Given the description of an element on the screen output the (x, y) to click on. 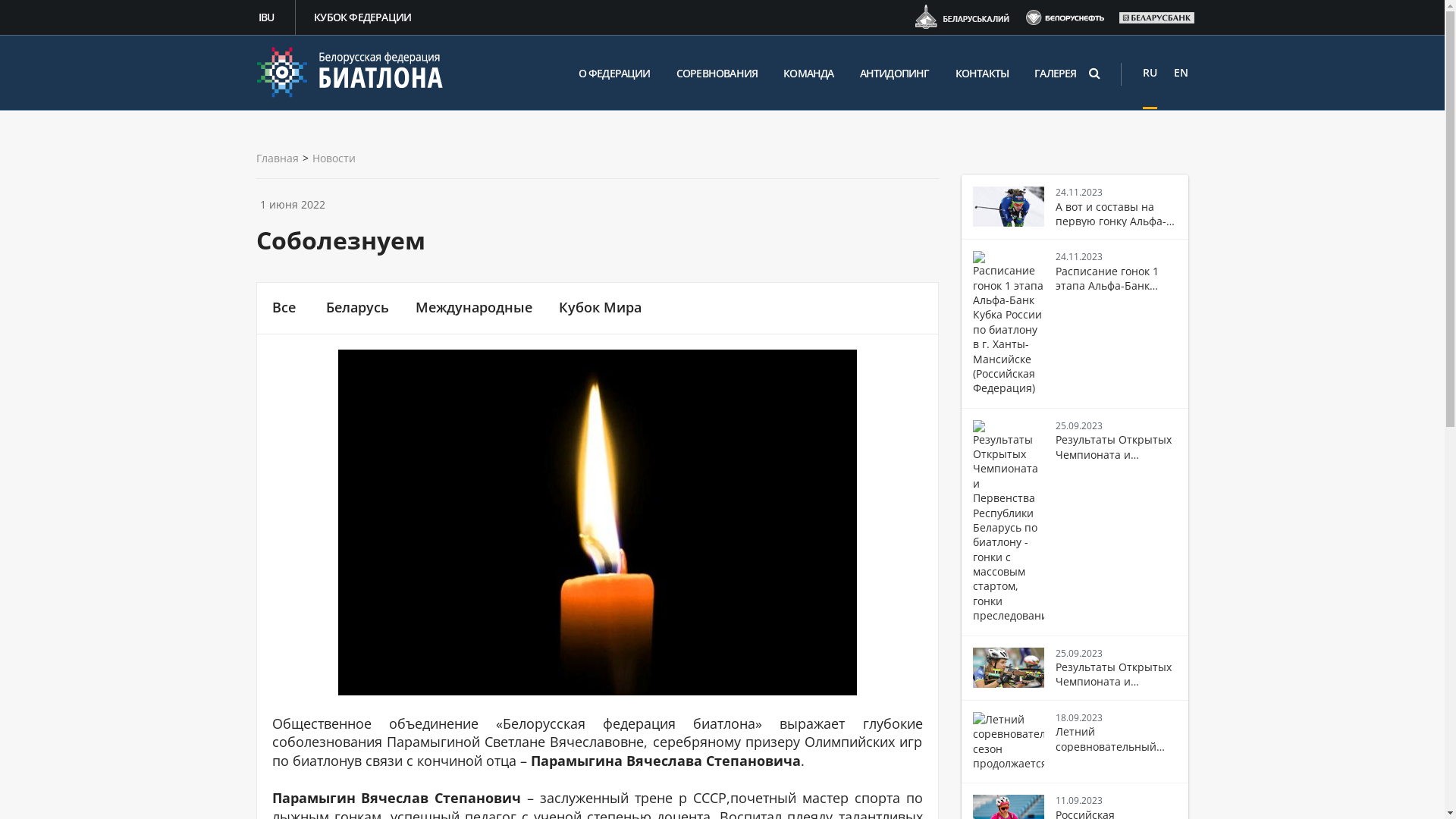
RU Element type: text (1149, 72)
IBU Element type: text (267, 17)
EN Element type: text (1180, 72)
